Given the description of an element on the screen output the (x, y) to click on. 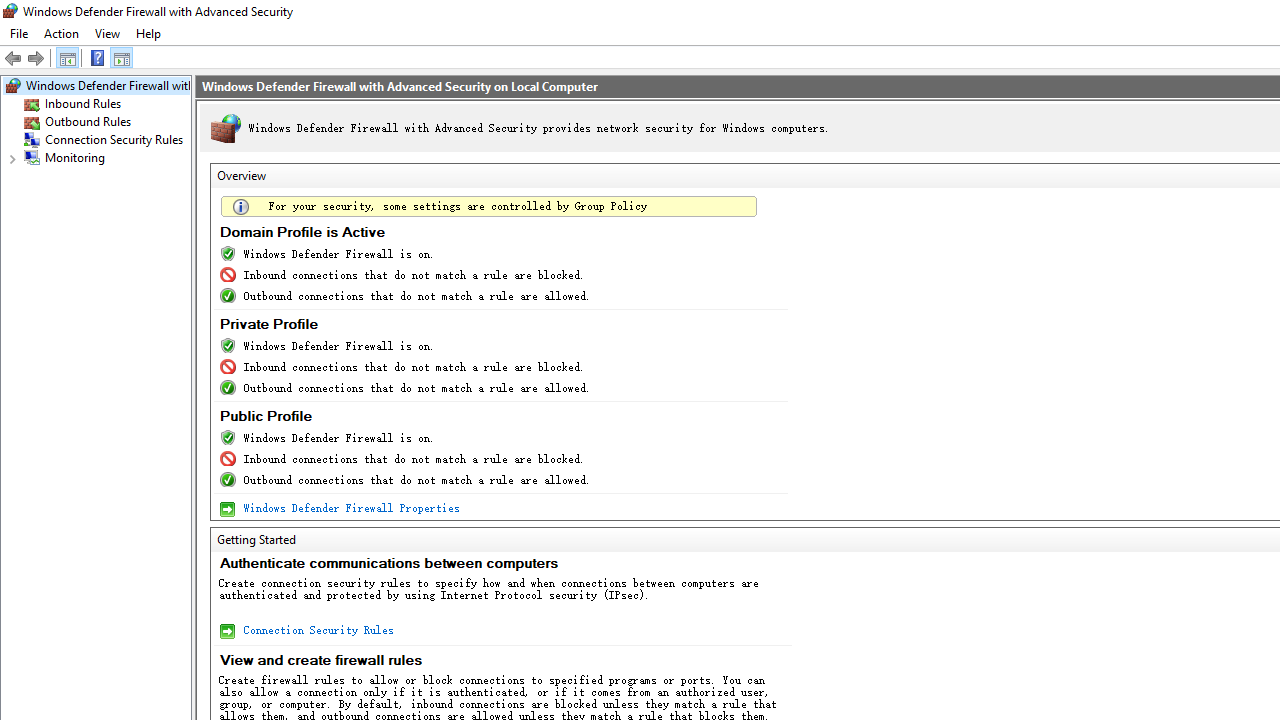
Back (13, 57)
Help (98, 57)
File (18, 33)
View (107, 33)
Help (148, 33)
Connection Security Rules (114, 140)
System (10, 11)
System (10, 11)
Show/Hide Action Pane (121, 57)
Show/Hide Console Tree (67, 57)
Connection Security Rules (316, 629)
Inbound Rules (82, 104)
Monitoring (75, 158)
Outbound Rules (88, 122)
